Given the description of an element on the screen output the (x, y) to click on. 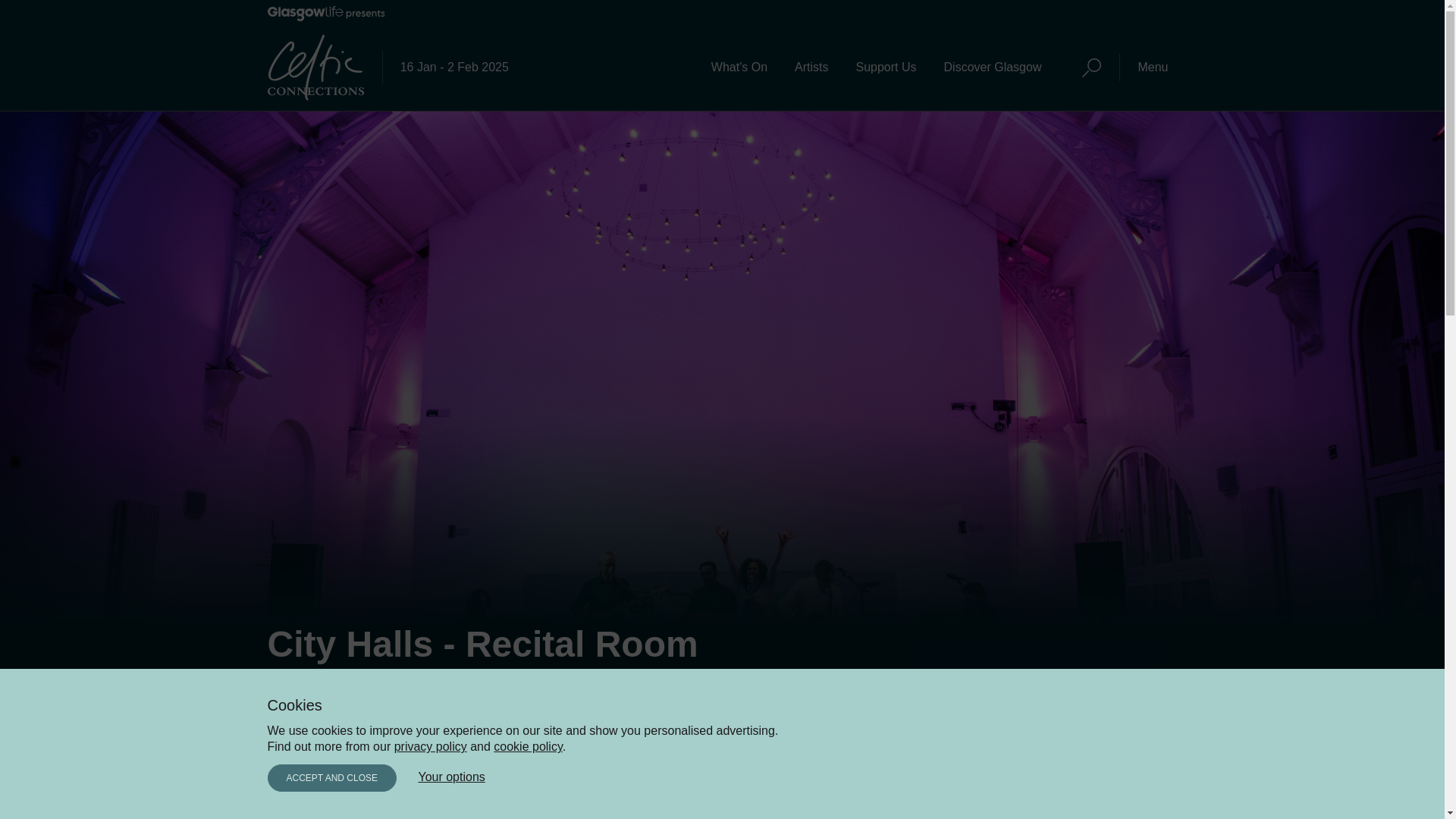
Glasgow Life presents (325, 13)
Glasgow Life presents (325, 16)
Discover Glasgow (992, 67)
Artists (811, 67)
ACCEPT AND CLOSE (331, 777)
Menu (1152, 67)
Your options (450, 777)
cookie policy (527, 746)
privacy policy (430, 746)
Support Us (884, 67)
What's On (738, 67)
